Given the description of an element on the screen output the (x, y) to click on. 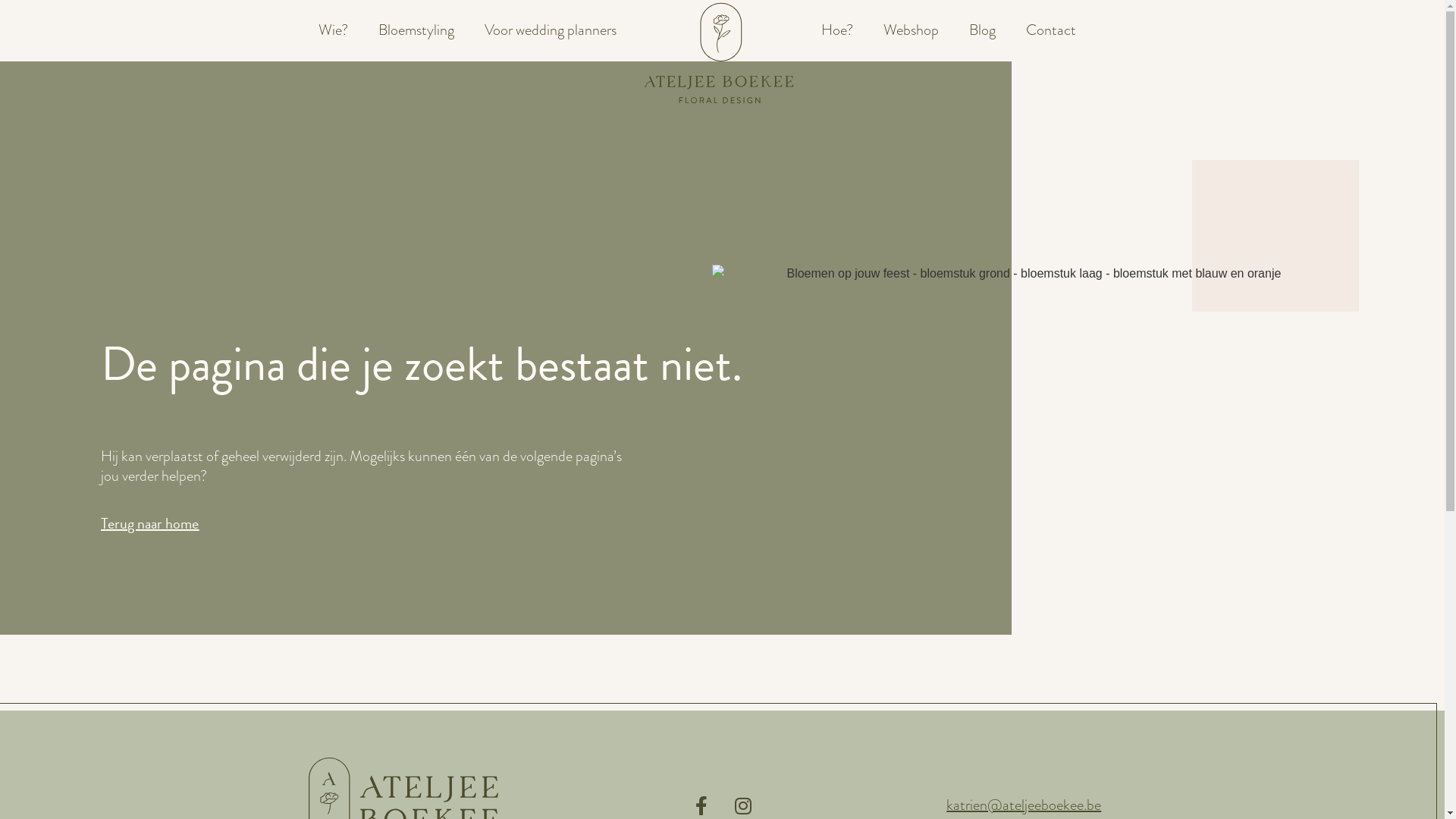
katrien@ateljeeboekee.be Element type: text (1023, 804)
Bloemstyling Element type: text (415, 29)
Blog Element type: text (982, 29)
Webshop Element type: text (910, 29)
Wie? Element type: text (333, 29)
Hoe? Element type: text (837, 29)
Voor wedding planners Element type: text (549, 29)
Contact Element type: text (1051, 29)
Terug naar home Element type: text (149, 516)
